Given the description of an element on the screen output the (x, y) to click on. 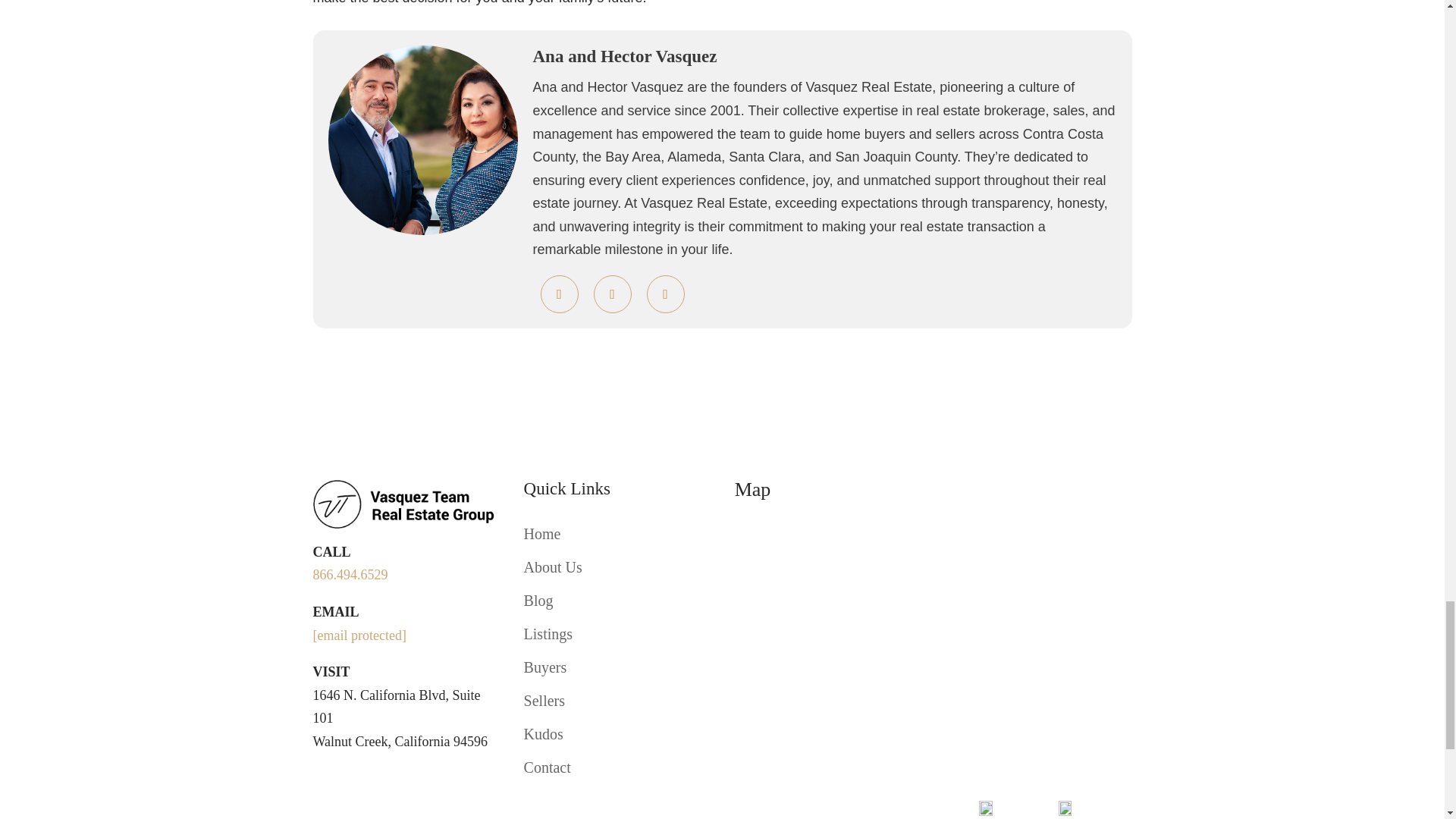
Follow on Facebook (324, 777)
Follow on LinkedIn (354, 777)
Follow on Instagram (384, 777)
vasquez-logo-updated2 (406, 503)
